Given the description of an element on the screen output the (x, y) to click on. 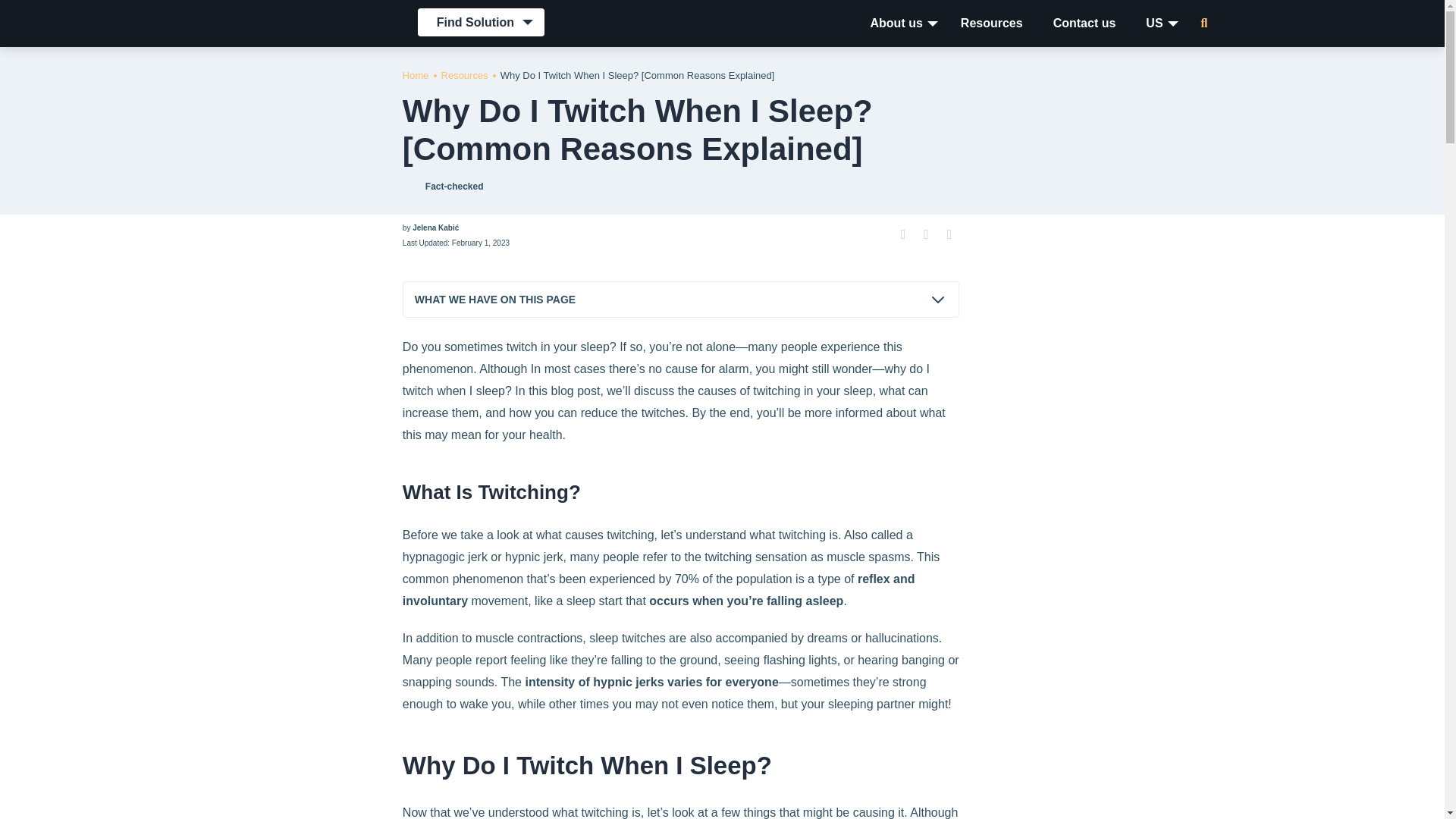
Contact us (1084, 23)
Resources (991, 23)
About us (896, 23)
US (1154, 23)
Home (416, 75)
Resources (464, 75)
